Given the description of an element on the screen output the (x, y) to click on. 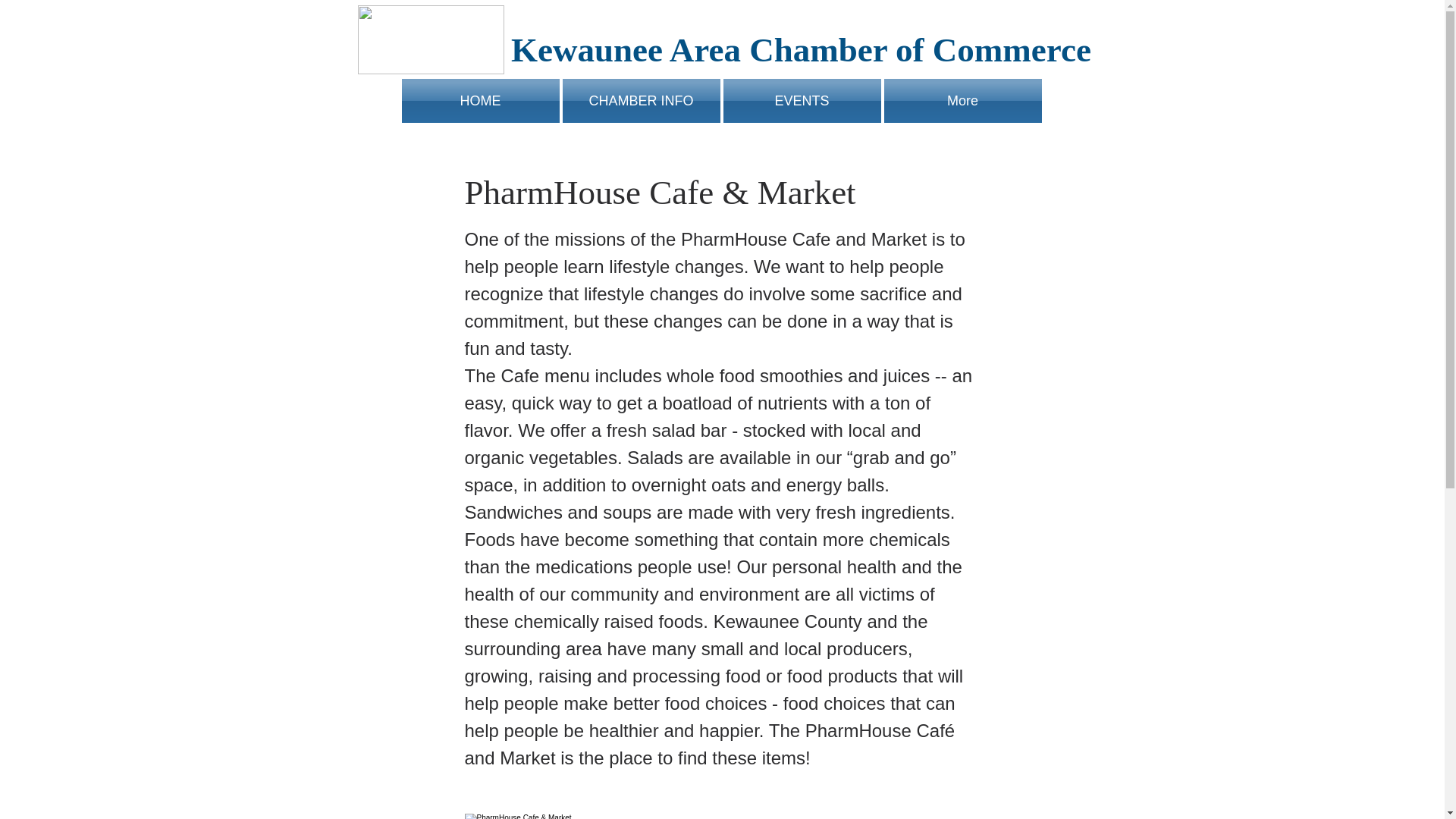
EVENTS (802, 100)
CHAMBER INFO (641, 100)
logo.png (430, 39)
Kewaunee Area Chamber of Commerce (800, 49)
HOME (480, 100)
